Given the description of an element on the screen output the (x, y) to click on. 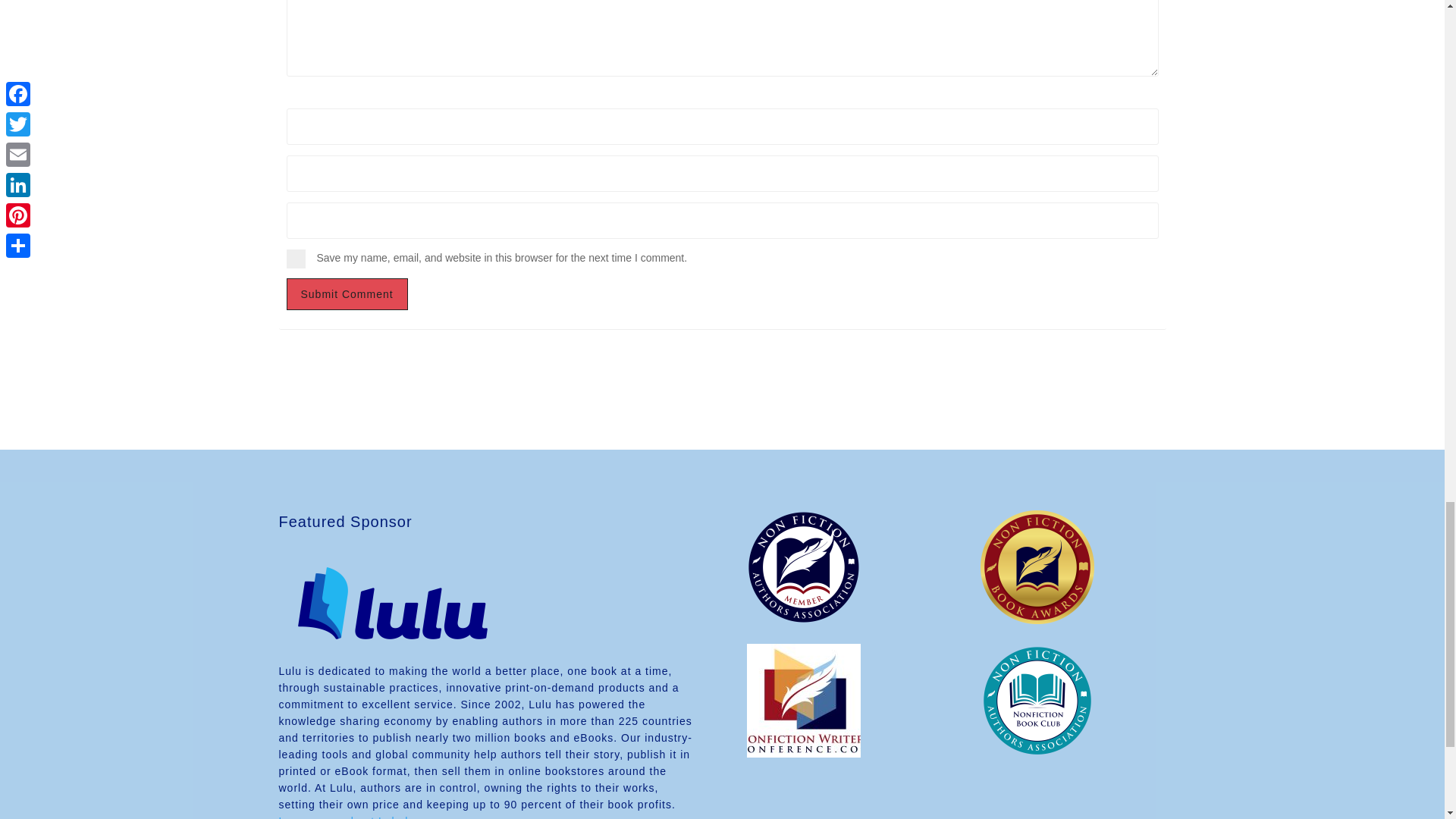
NONFICTION BOOK CLUB (1036, 700)
Featured Sponsor (392, 654)
Submit Comment (346, 294)
